Given the description of an element on the screen output the (x, y) to click on. 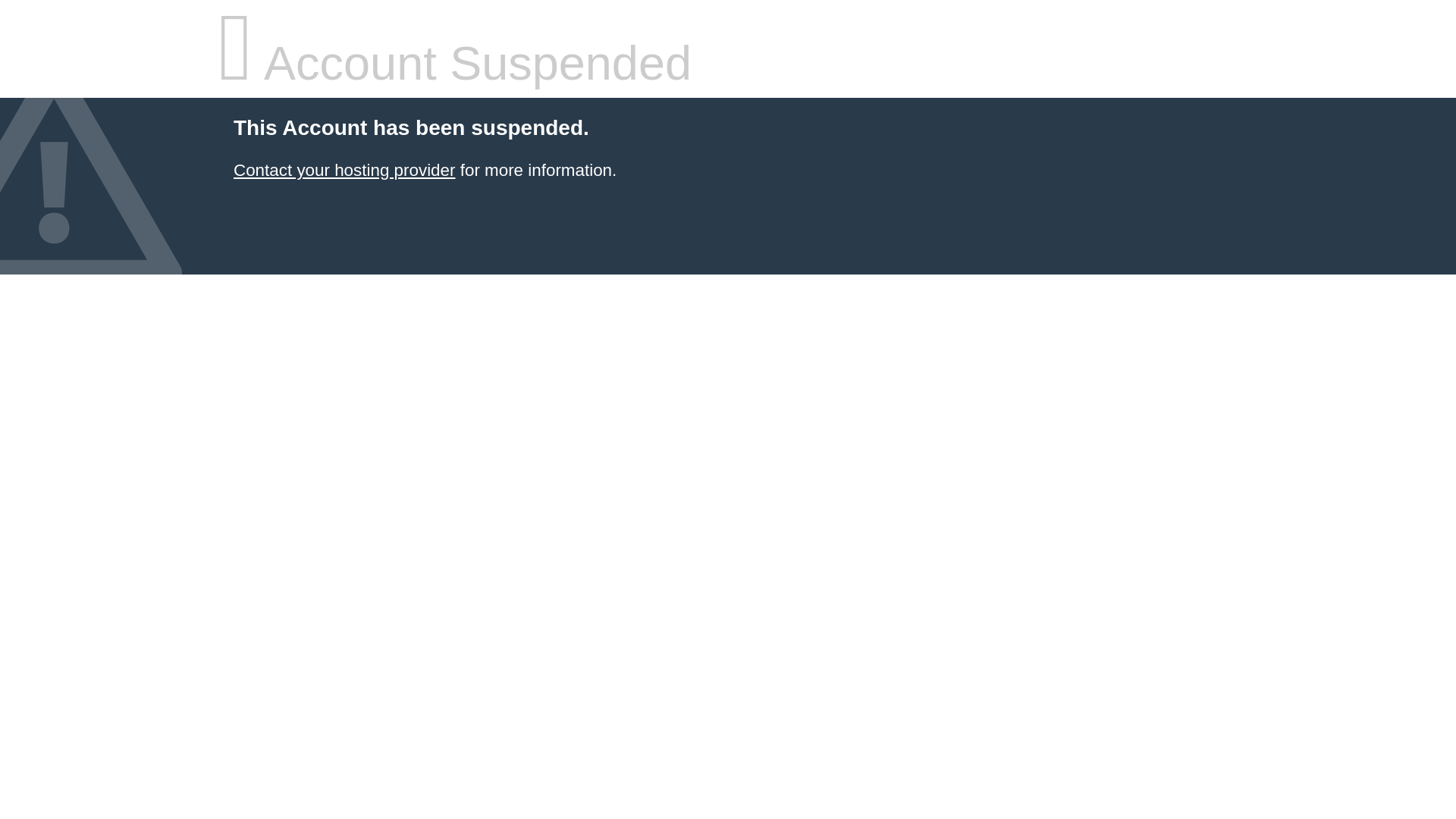
Contact your hosting provider (343, 169)
